Given the description of an element on the screen output the (x, y) to click on. 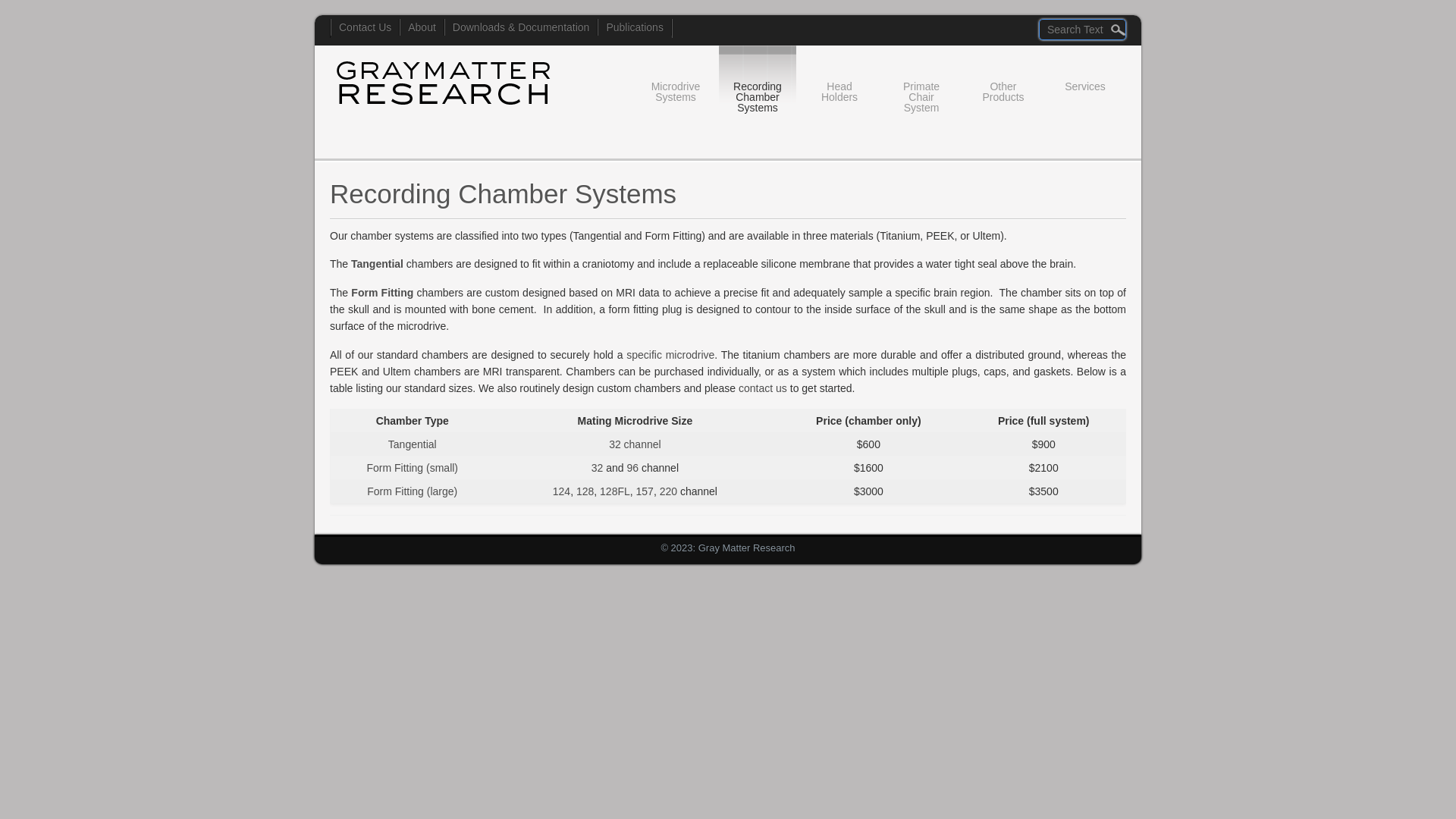
Other Products (1002, 81)
Form Fitting (381, 292)
Microdrive Systems (675, 81)
Recording Chamber Systems (757, 86)
96 (632, 467)
Search (29, 13)
Tangential (376, 263)
contact us (762, 387)
specific microdrive (670, 354)
About (421, 27)
